Given the description of an element on the screen output the (x, y) to click on. 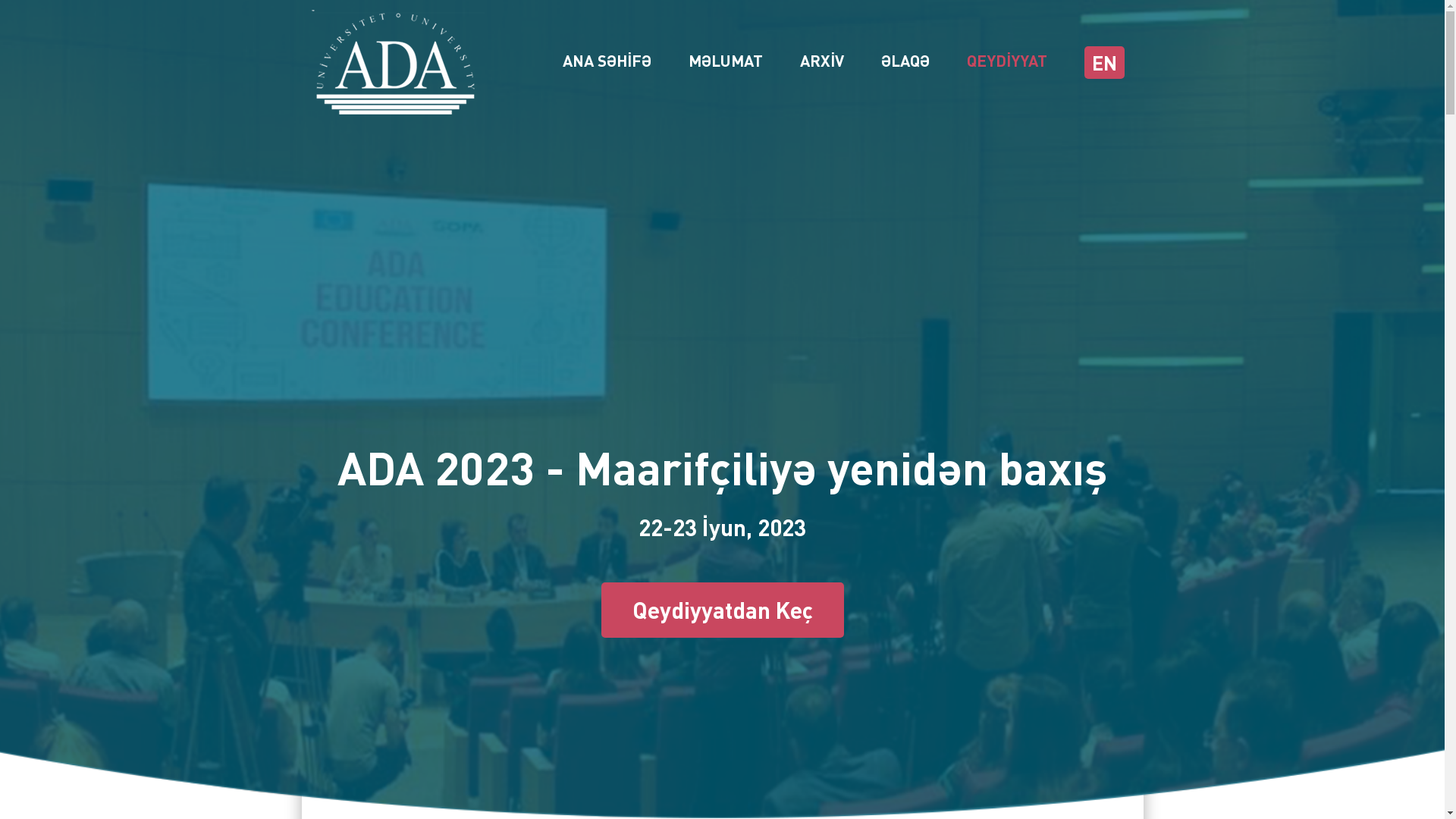
ARXIV Element type: text (822, 59)
QEYDIYYAT Element type: text (1006, 59)
EN Element type: text (1104, 61)
